Given the description of an element on the screen output the (x, y) to click on. 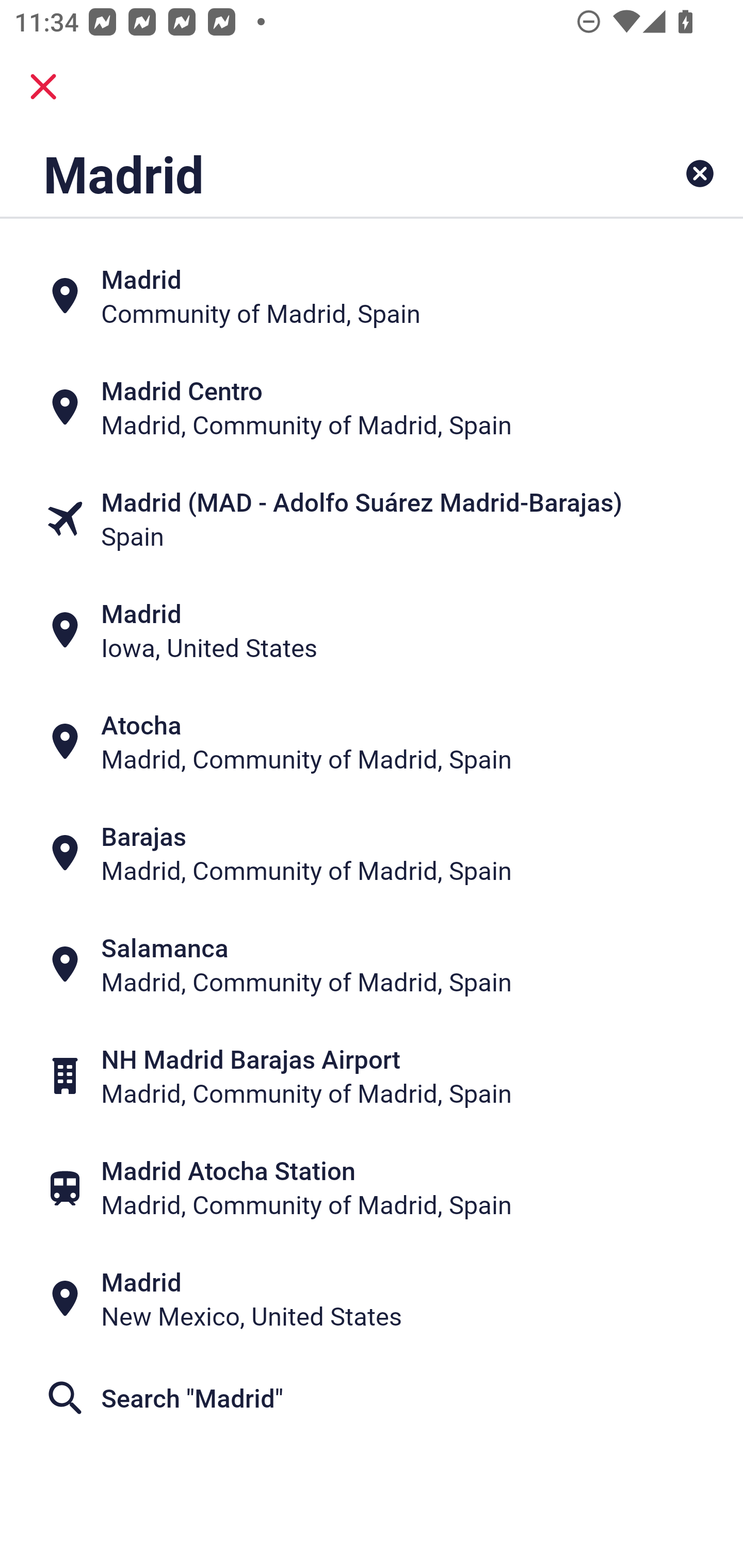
close. (43, 86)
Clear (699, 173)
Madrid (306, 173)
Madrid Community of Madrid, Spain (371, 295)
Madrid Centro Madrid, Community of Madrid, Spain (371, 406)
Madrid (MAD - Adolfo Suárez Madrid-Barajas) Spain (371, 517)
Madrid Iowa, United States (371, 629)
Atocha Madrid, Community of Madrid, Spain (371, 742)
Barajas Madrid, Community of Madrid, Spain (371, 853)
Salamanca Madrid, Community of Madrid, Spain (371, 964)
Madrid New Mexico, United States (371, 1298)
Search "Madrid" (371, 1397)
